Given the description of an element on the screen output the (x, y) to click on. 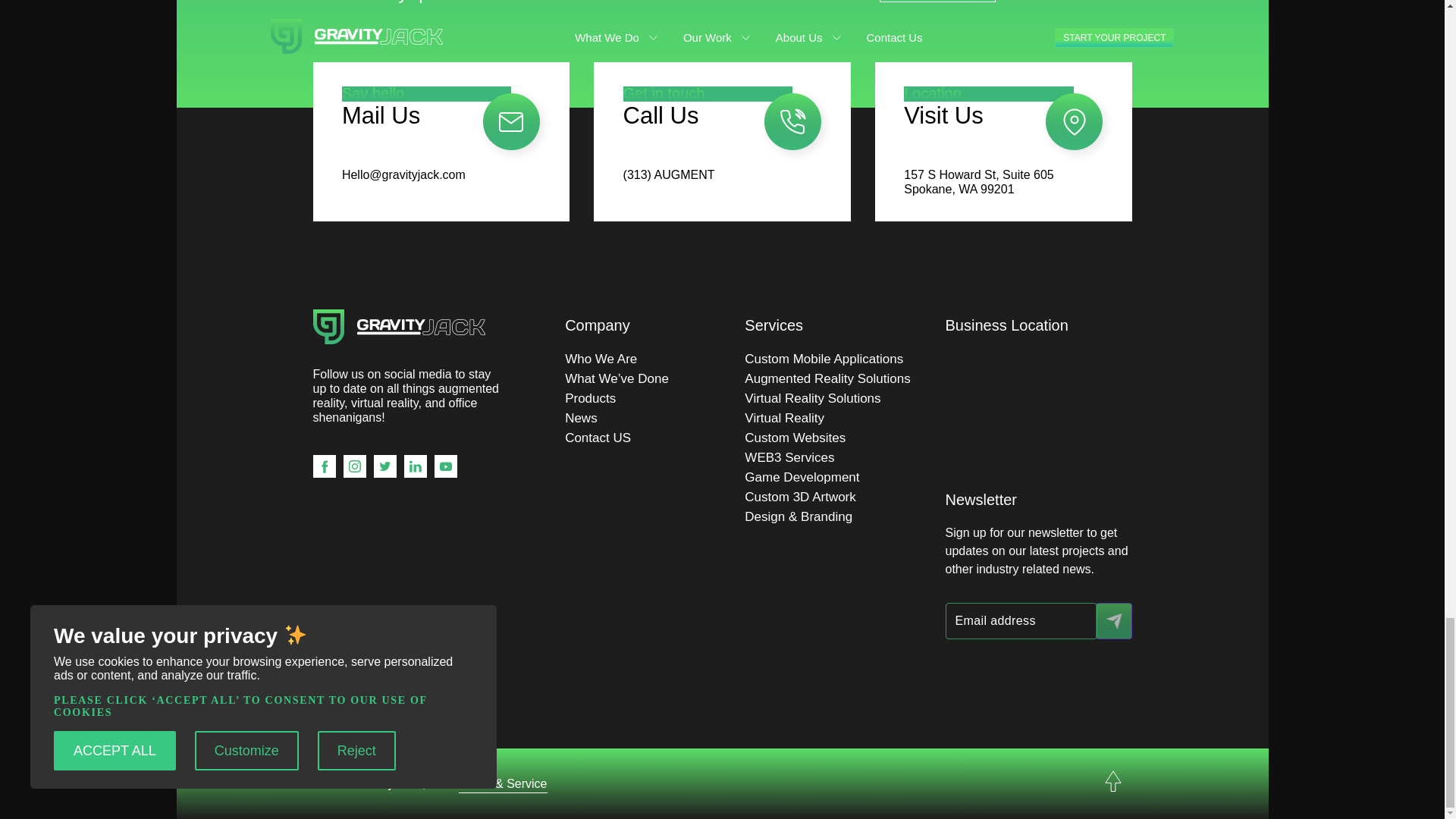
Follow on Twitter (384, 466)
Subscribe (1112, 620)
Follow on Youtube (445, 466)
Follow on Instagram (353, 466)
Follow on Facebook (323, 466)
Follow on LinkedIn (414, 466)
